Given the description of an element on the screen output the (x, y) to click on. 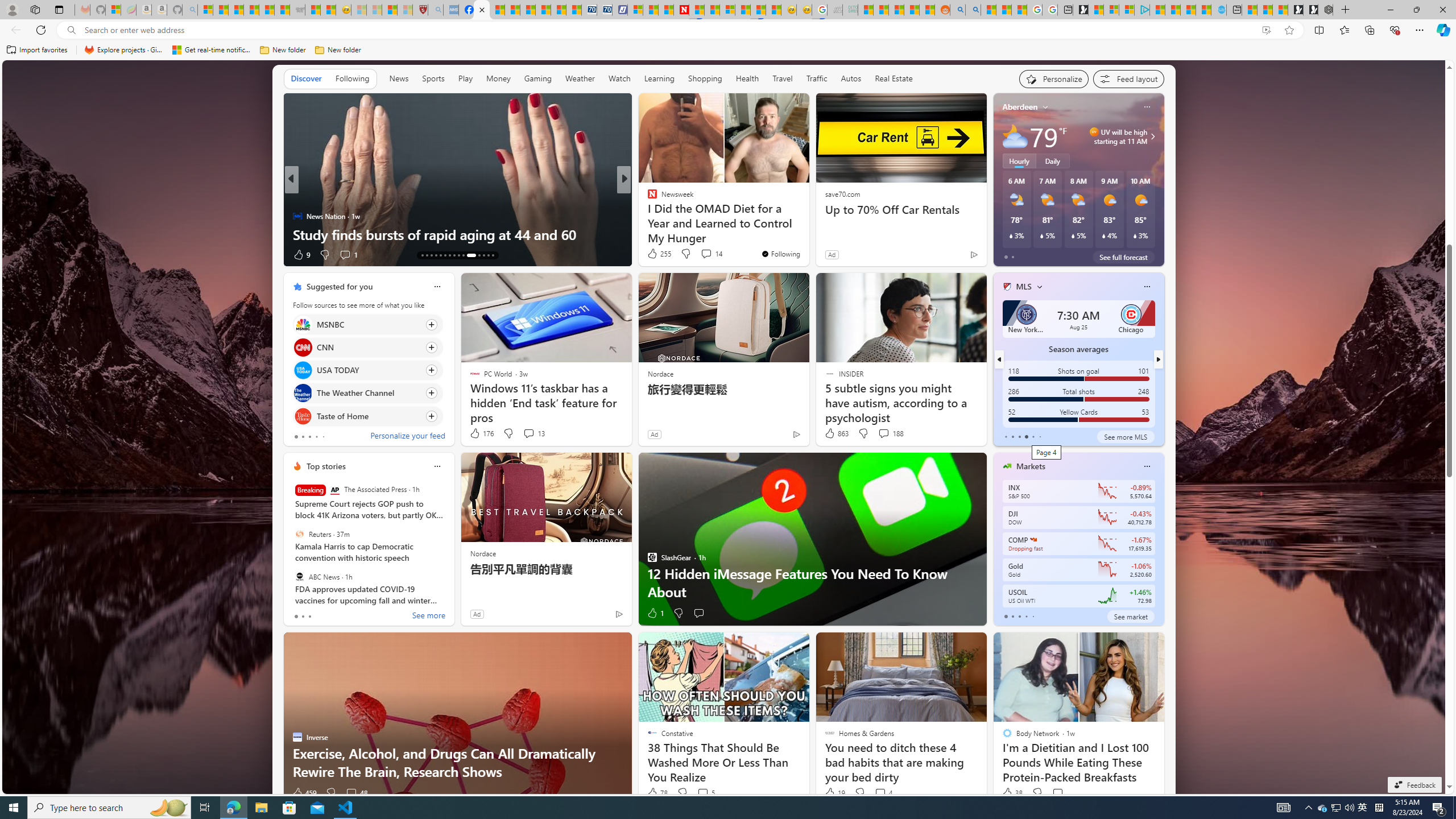
Enhance video (1266, 29)
Click to follow source Taste of Home (367, 415)
AutomationID: tab-69 (435, 255)
10 Strength Exercises for Beginners To Melt Love Handles (457, 225)
